Given the description of an element on the screen output the (x, y) to click on. 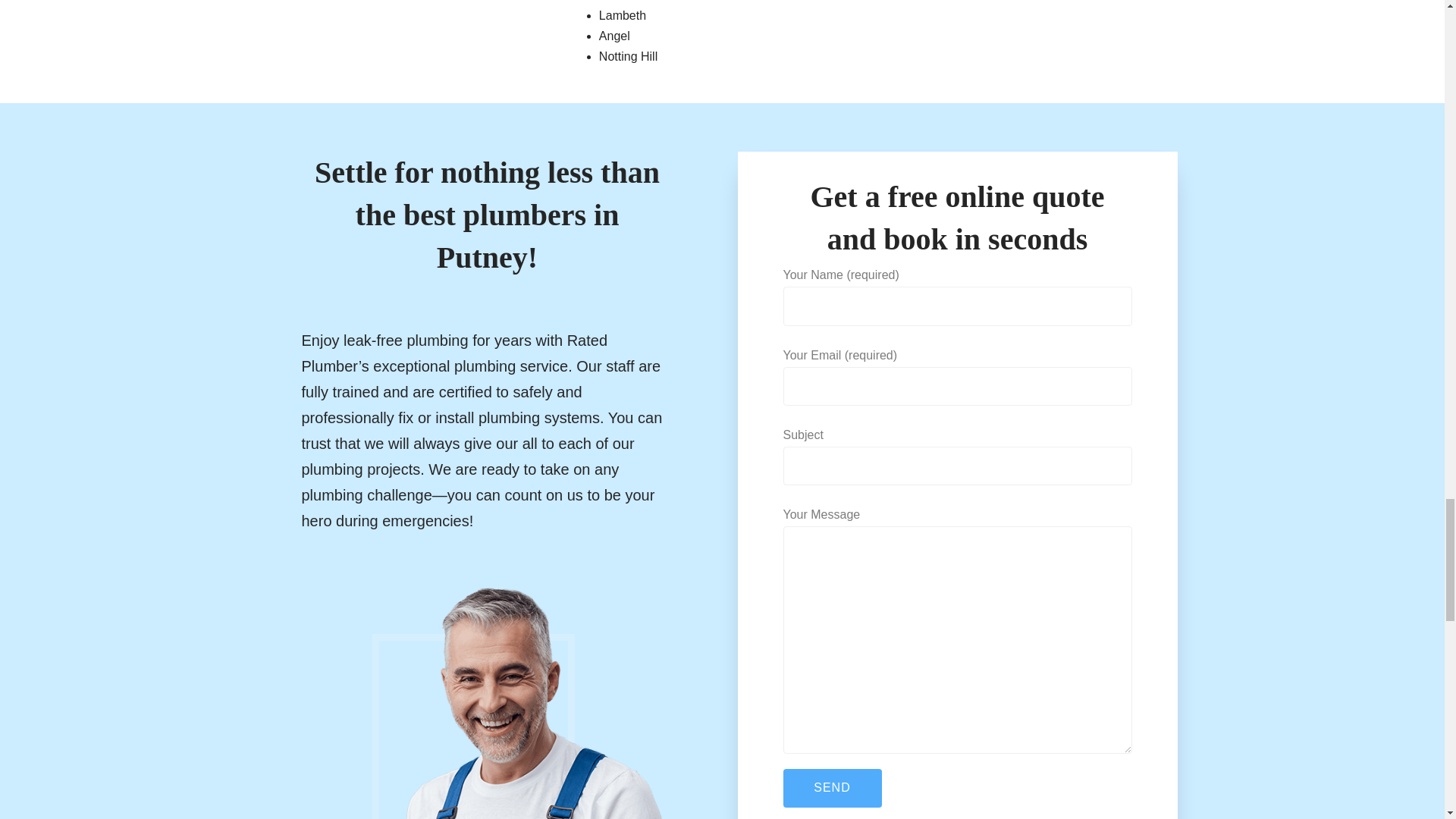
Send (831, 788)
